Given the description of an element on the screen output the (x, y) to click on. 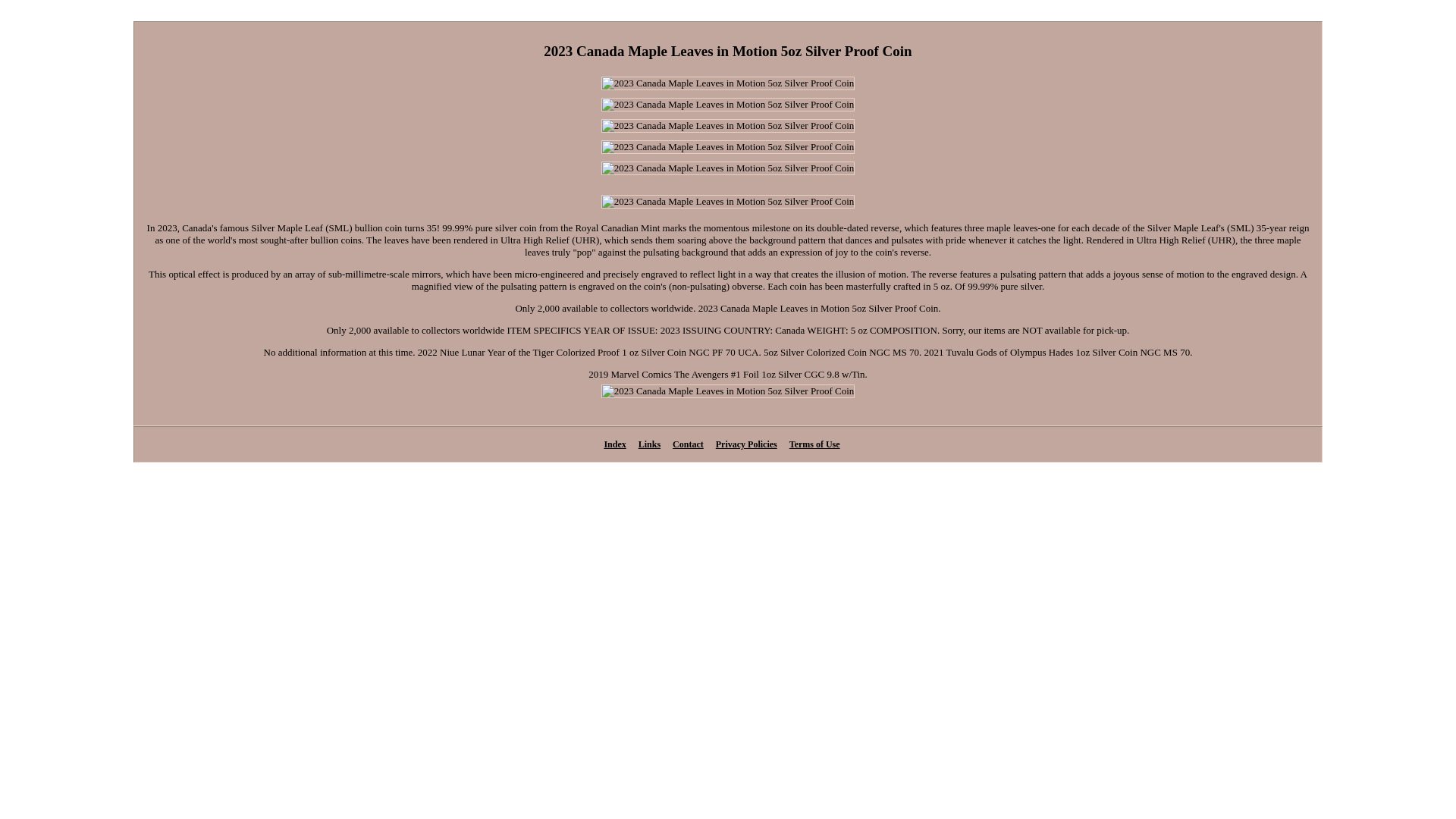
2023 Canada Maple Leaves in Motion 5oz Silver Proof Coin (728, 83)
2023 Canada Maple Leaves in Motion 5oz Silver Proof Coin (728, 104)
2023 Canada Maple Leaves in Motion 5oz Silver Proof Coin (728, 391)
2023 Canada Maple Leaves in Motion 5oz Silver Proof Coin (728, 168)
2023 Canada Maple Leaves in Motion 5oz Silver Proof Coin (728, 201)
2023 Canada Maple Leaves in Motion 5oz Silver Proof Coin (728, 146)
2023 Canada Maple Leaves in Motion 5oz Silver Proof Coin (728, 125)
